Given the description of an element on the screen output the (x, y) to click on. 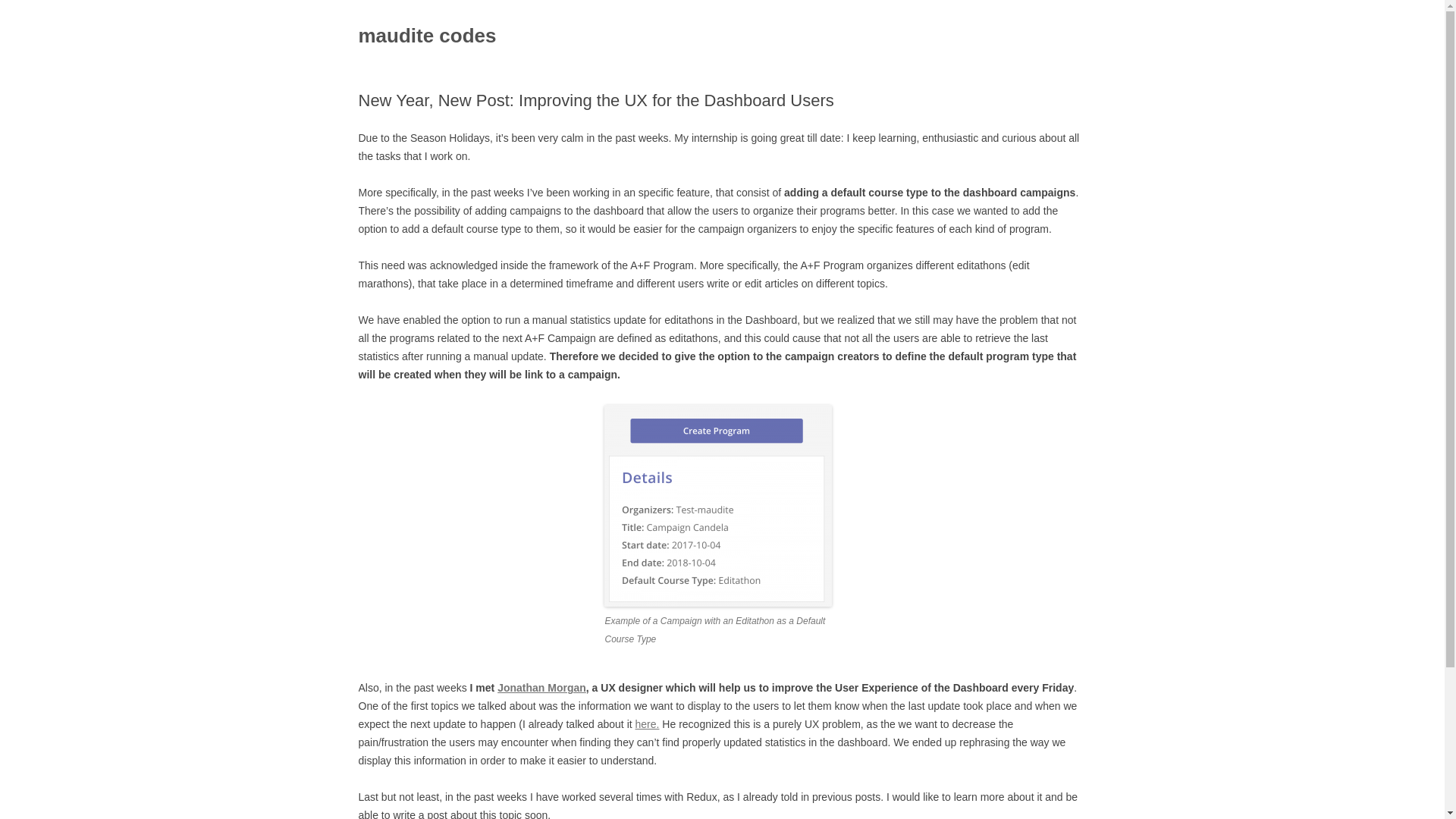
here. (646, 724)
Jonathan Morgan (541, 687)
maudite codes (427, 36)
maudite codes (427, 36)
